Given the description of an element on the screen output the (x, y) to click on. 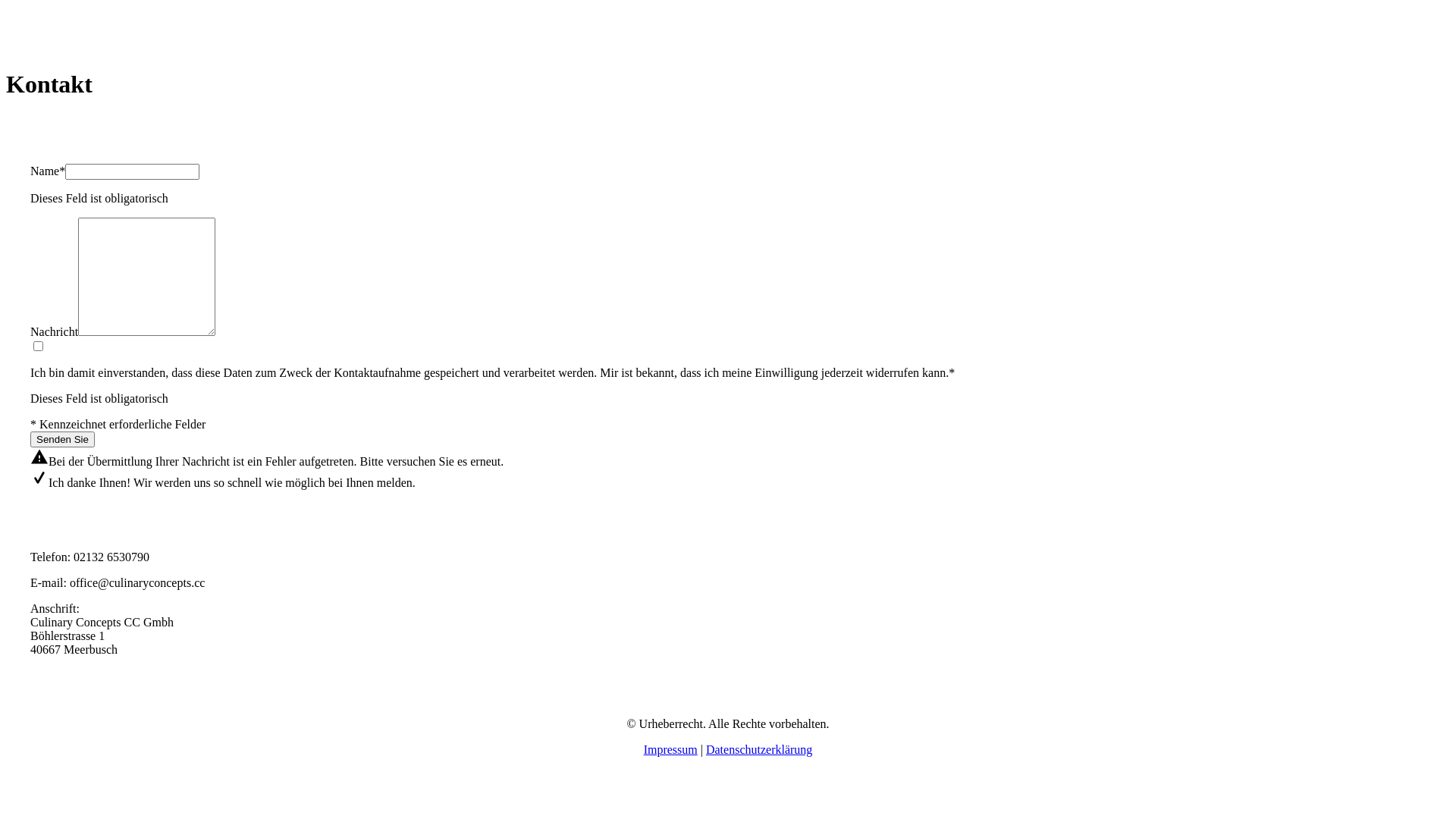
Senden Sie Element type: text (62, 439)
Impressum Element type: text (670, 749)
